Given the description of an element on the screen output the (x, y) to click on. 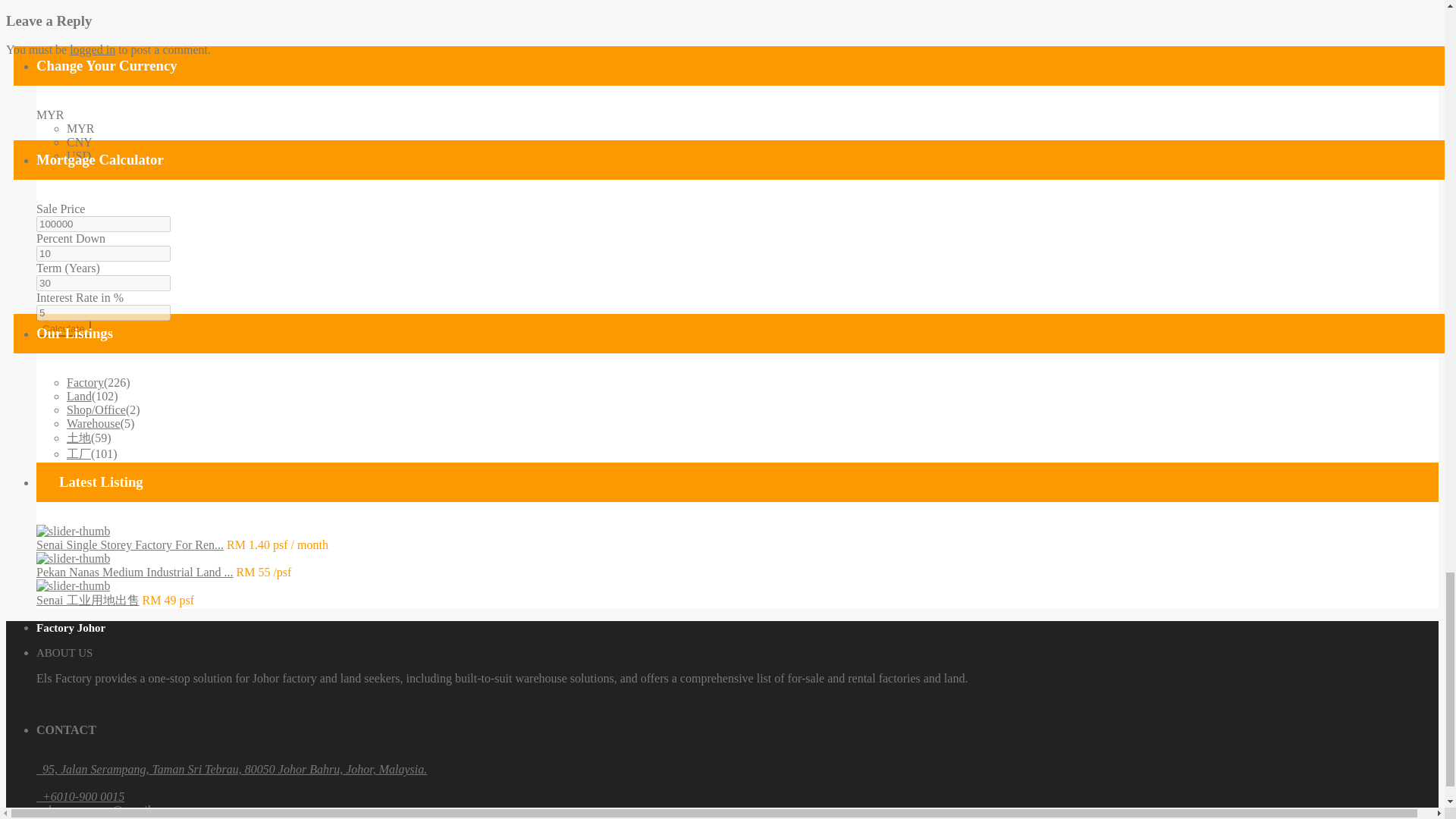
30 (103, 283)
10 (103, 253)
100000 (103, 223)
5 (103, 312)
